Given the description of an element on the screen output the (x, y) to click on. 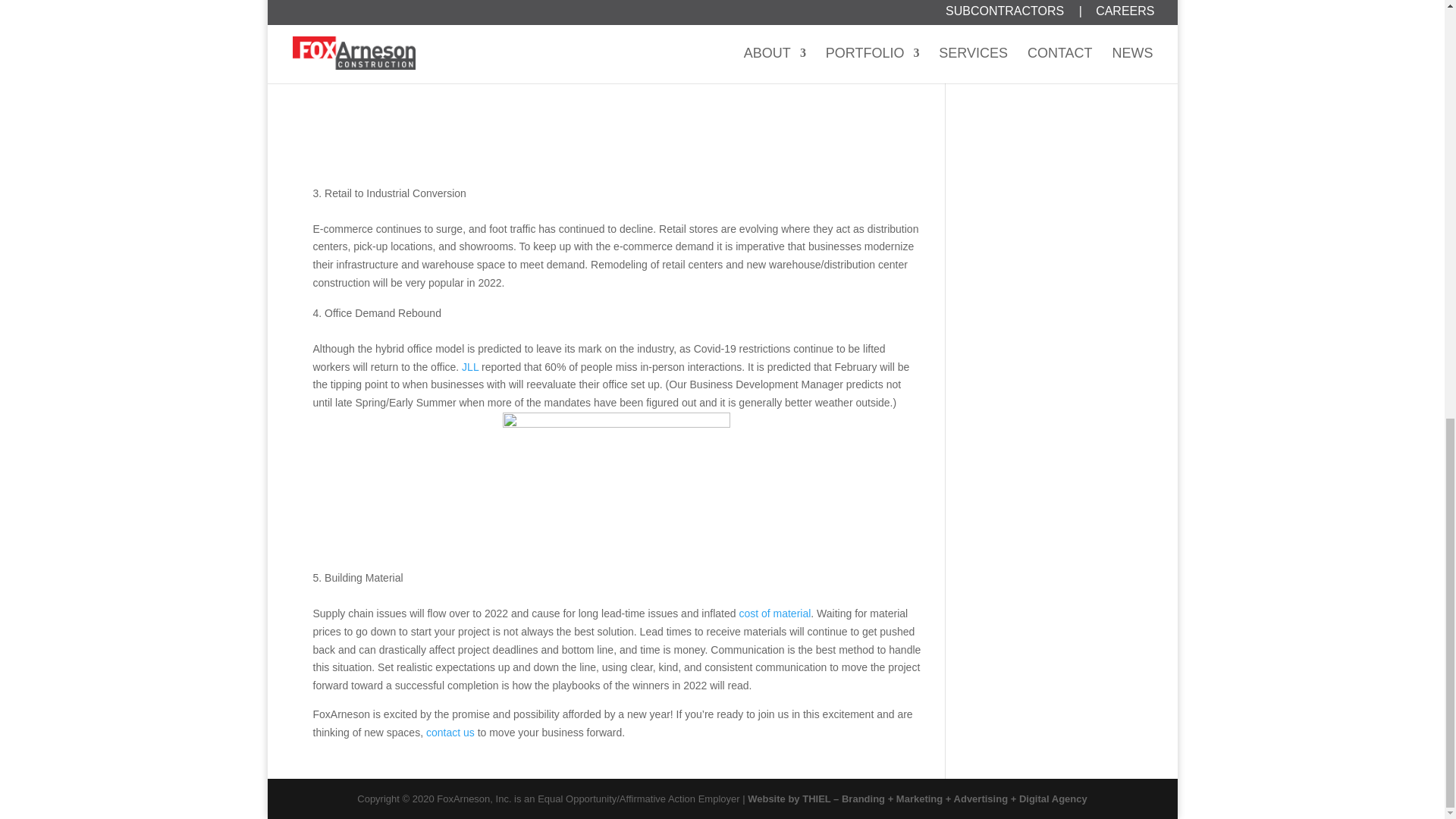
JLL (470, 367)
cost of material (774, 613)
contact us (450, 732)
